Given the description of an element on the screen output the (x, y) to click on. 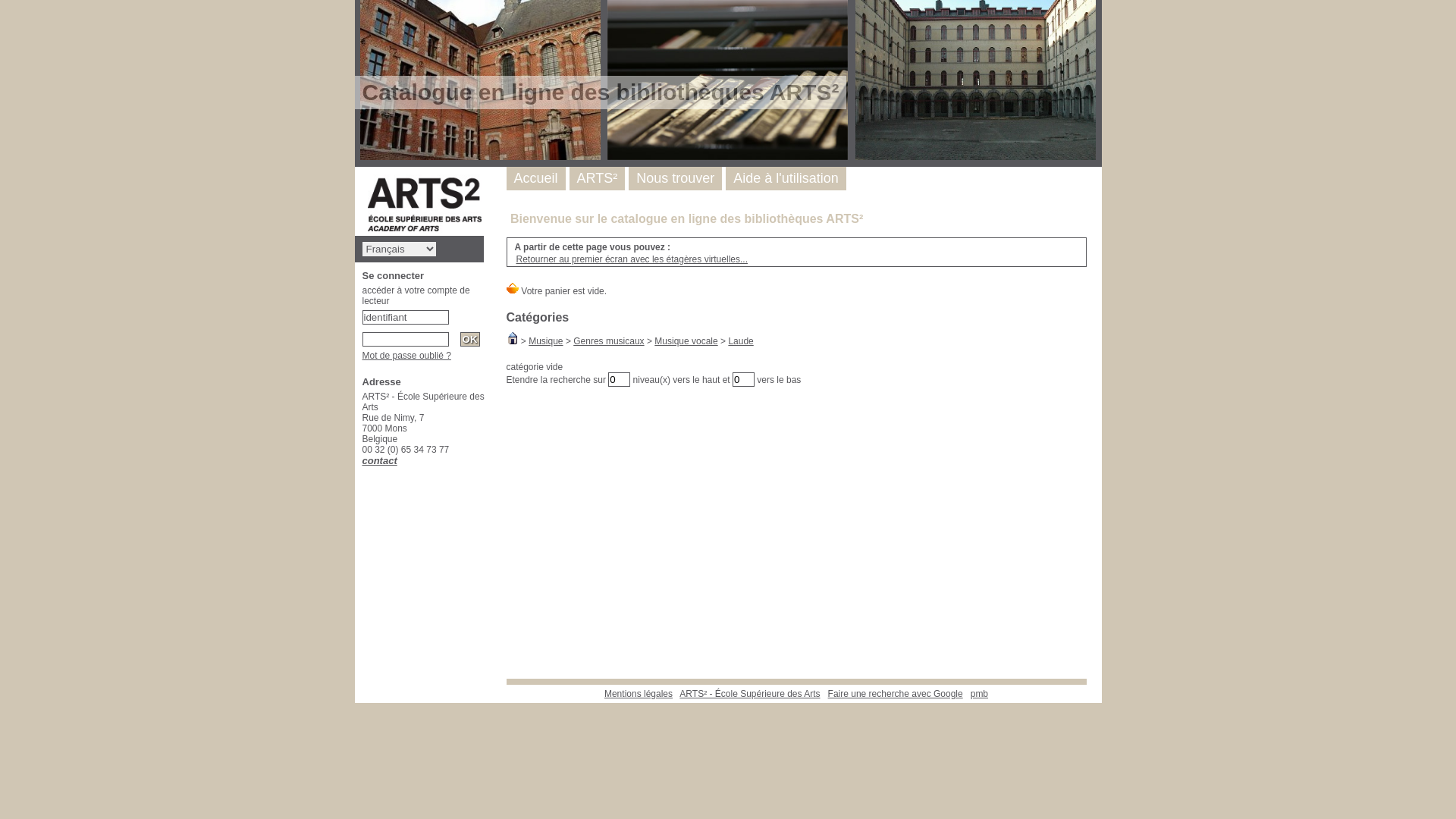
Laude Element type: text (740, 340)
Nous trouver Element type: text (675, 177)
ok Element type: text (470, 339)
Faire une recherche avec Google Element type: text (895, 693)
pmb Element type: text (979, 693)
Genres musicaux Element type: text (608, 340)
contact Element type: text (379, 460)
Musique Element type: text (545, 340)
Musique vocale Element type: text (685, 340)
Accueil Element type: text (536, 177)
